Given the description of an element on the screen output the (x, y) to click on. 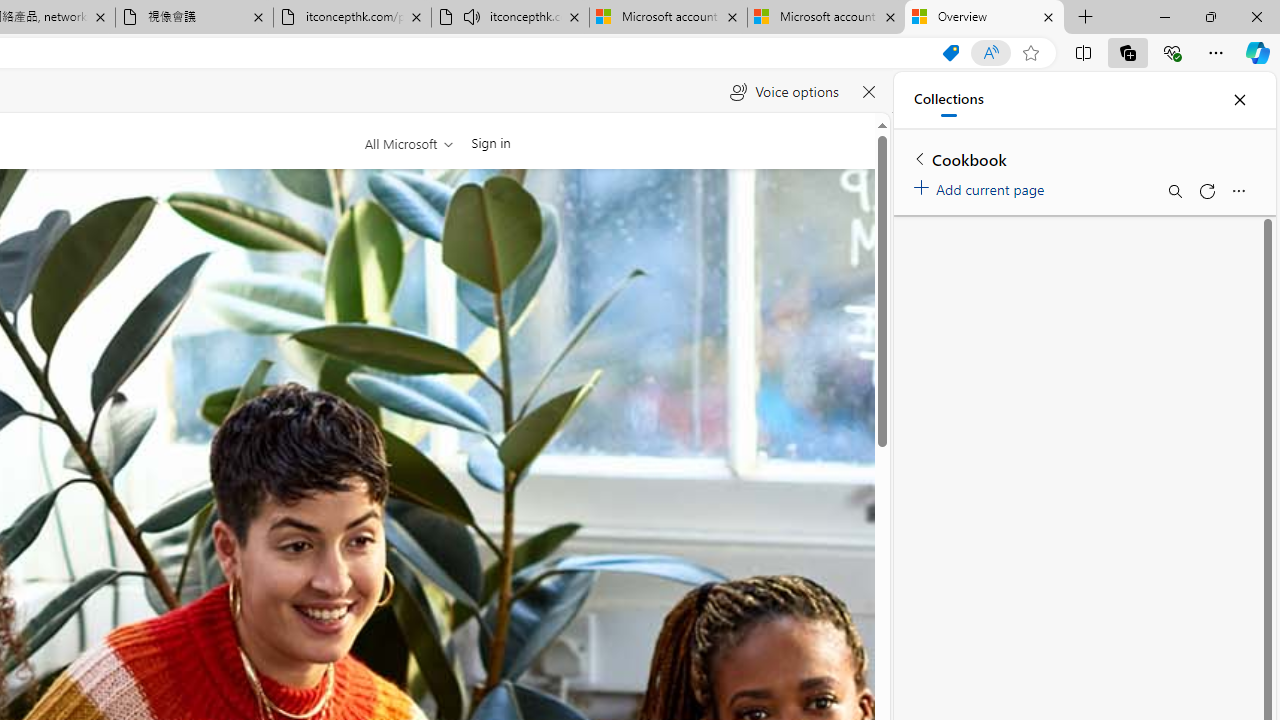
More options menu (1238, 190)
Voice options (783, 92)
itconcepthk.com/projector_solutions.mp4 (352, 17)
Back to list of collections (920, 158)
